Given the description of an element on the screen output the (x, y) to click on. 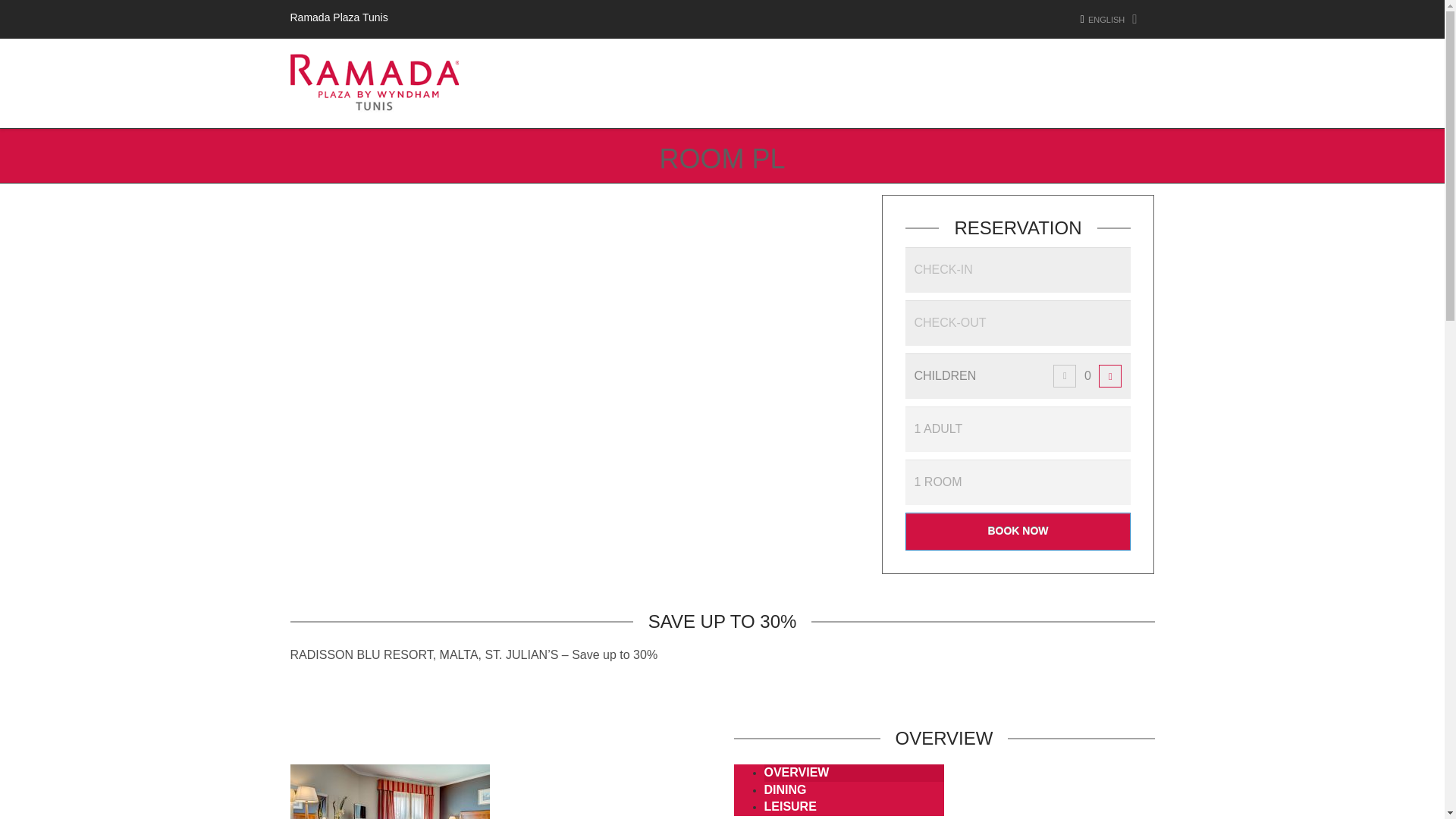
DINING (785, 789)
suite-collection-1 (389, 791)
ENGLISH (1112, 19)
BOOK NOW (1018, 531)
OVERVIEW (796, 771)
LEISURE (790, 806)
0 (1087, 375)
